Given the description of an element on the screen output the (x, y) to click on. 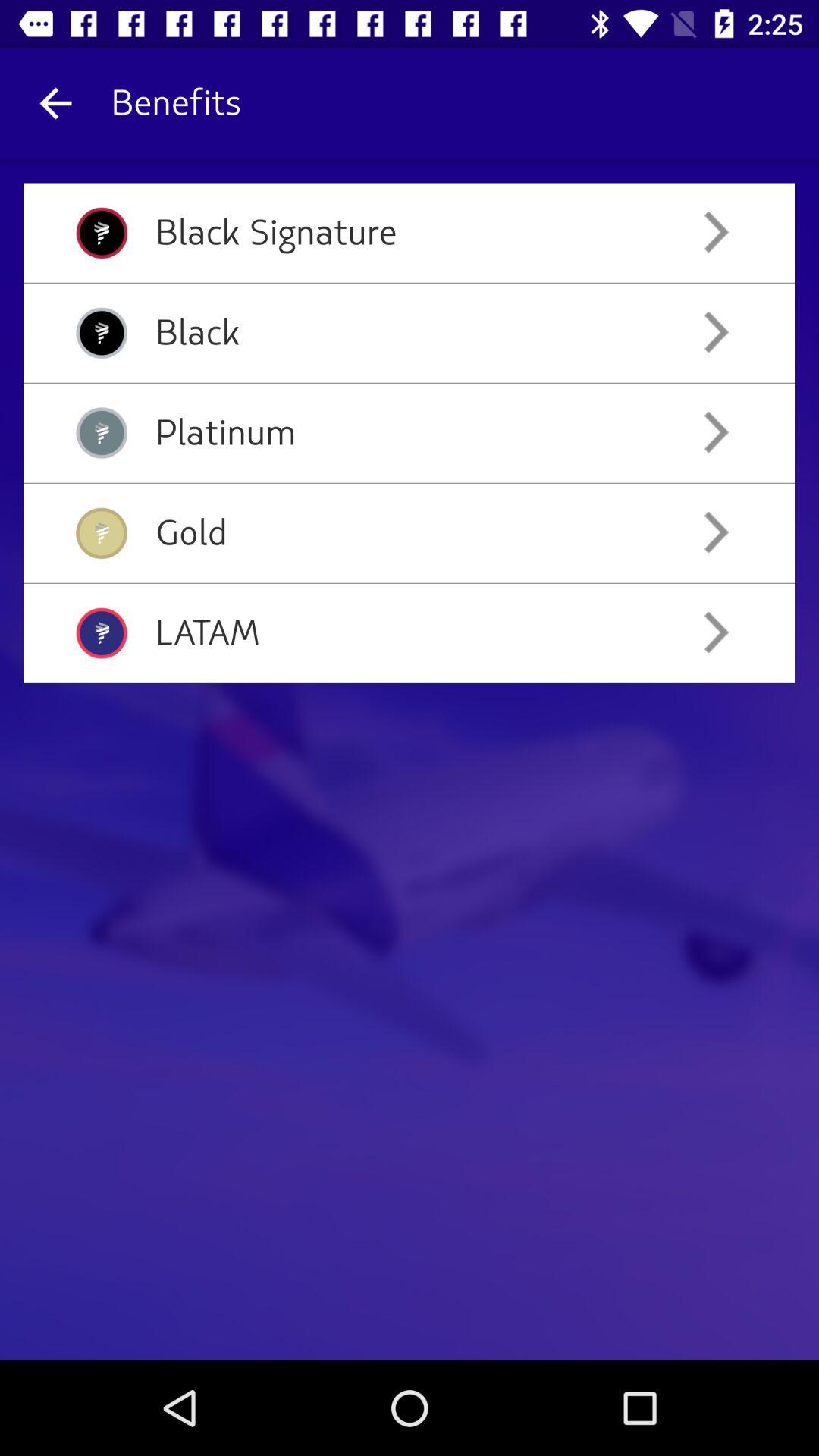
open the item to the left of benefits (55, 103)
